Given the description of an element on the screen output the (x, y) to click on. 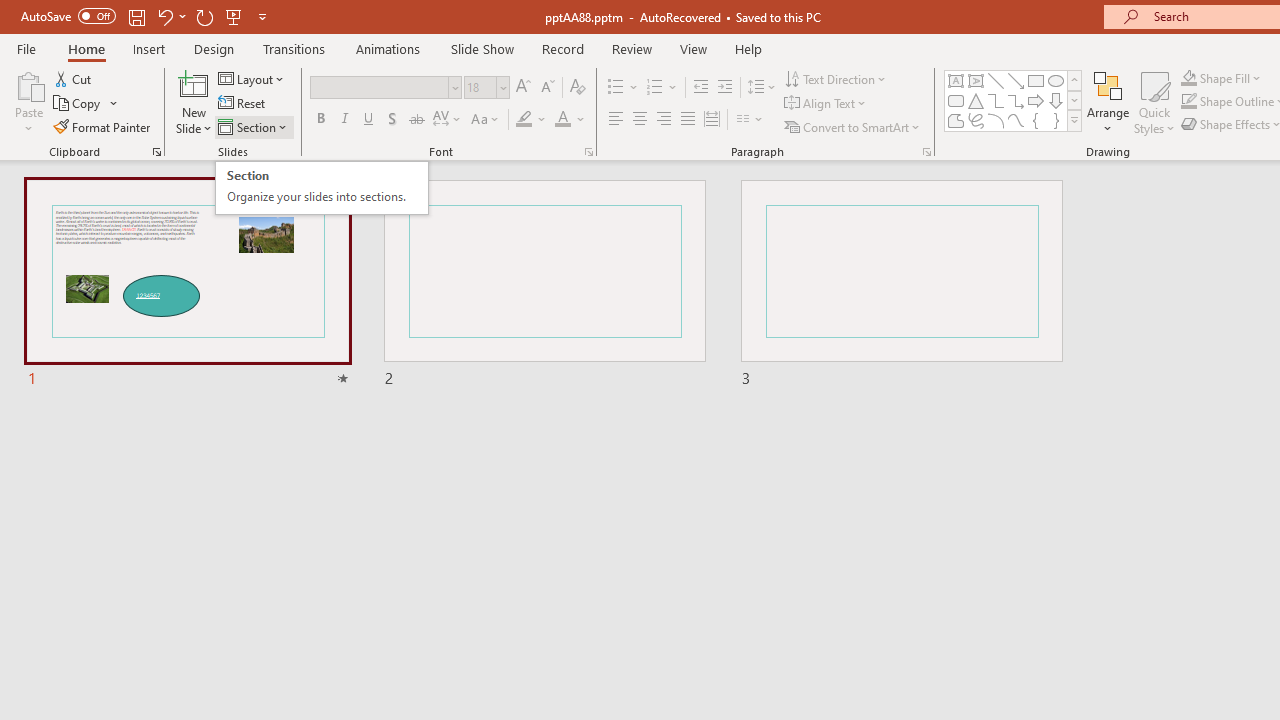
Shape Outline Teal, Accent 1 (1188, 101)
